Given the description of an element on the screen output the (x, y) to click on. 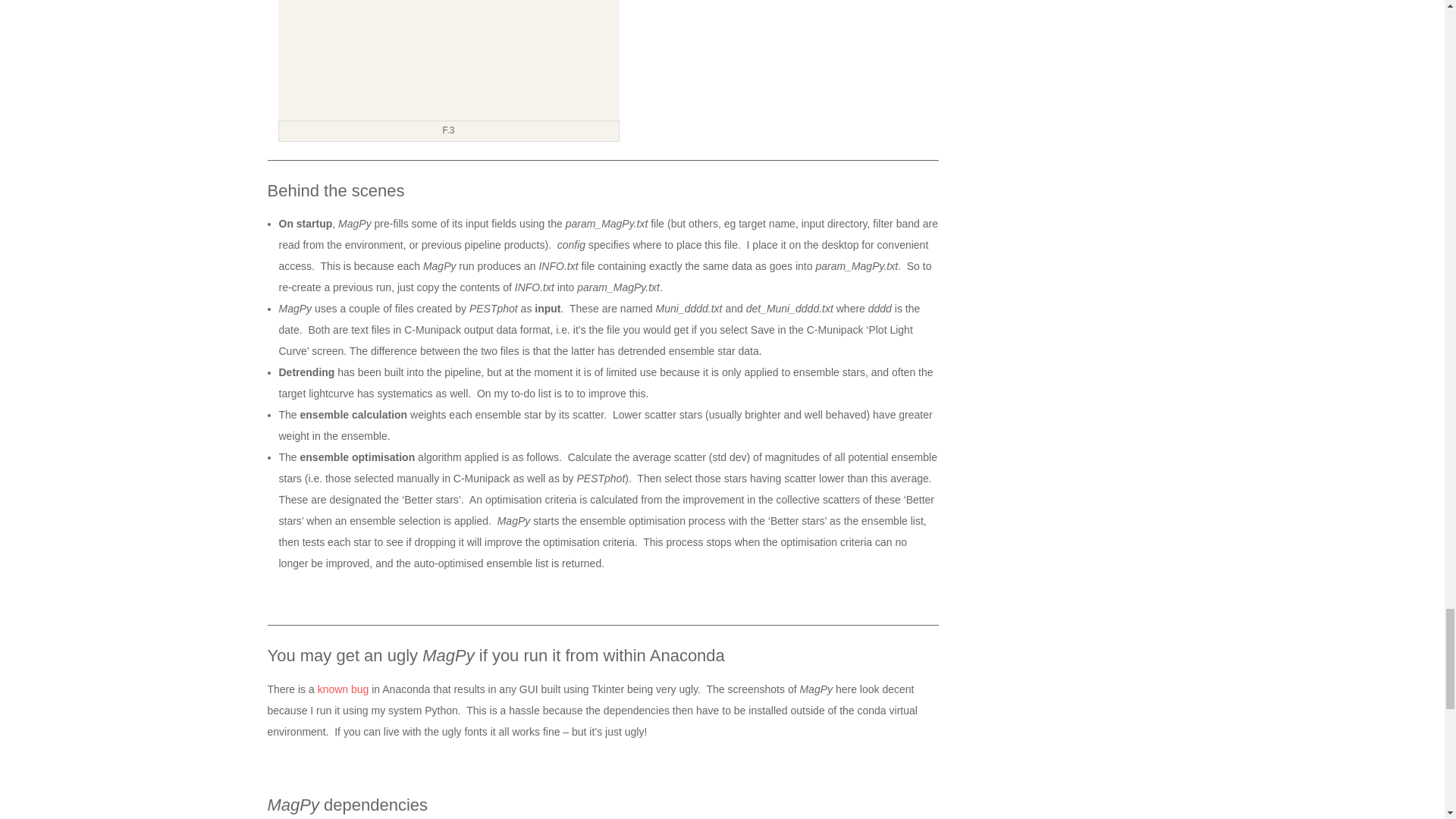
known bug (343, 689)
